Given the description of an element on the screen output the (x, y) to click on. 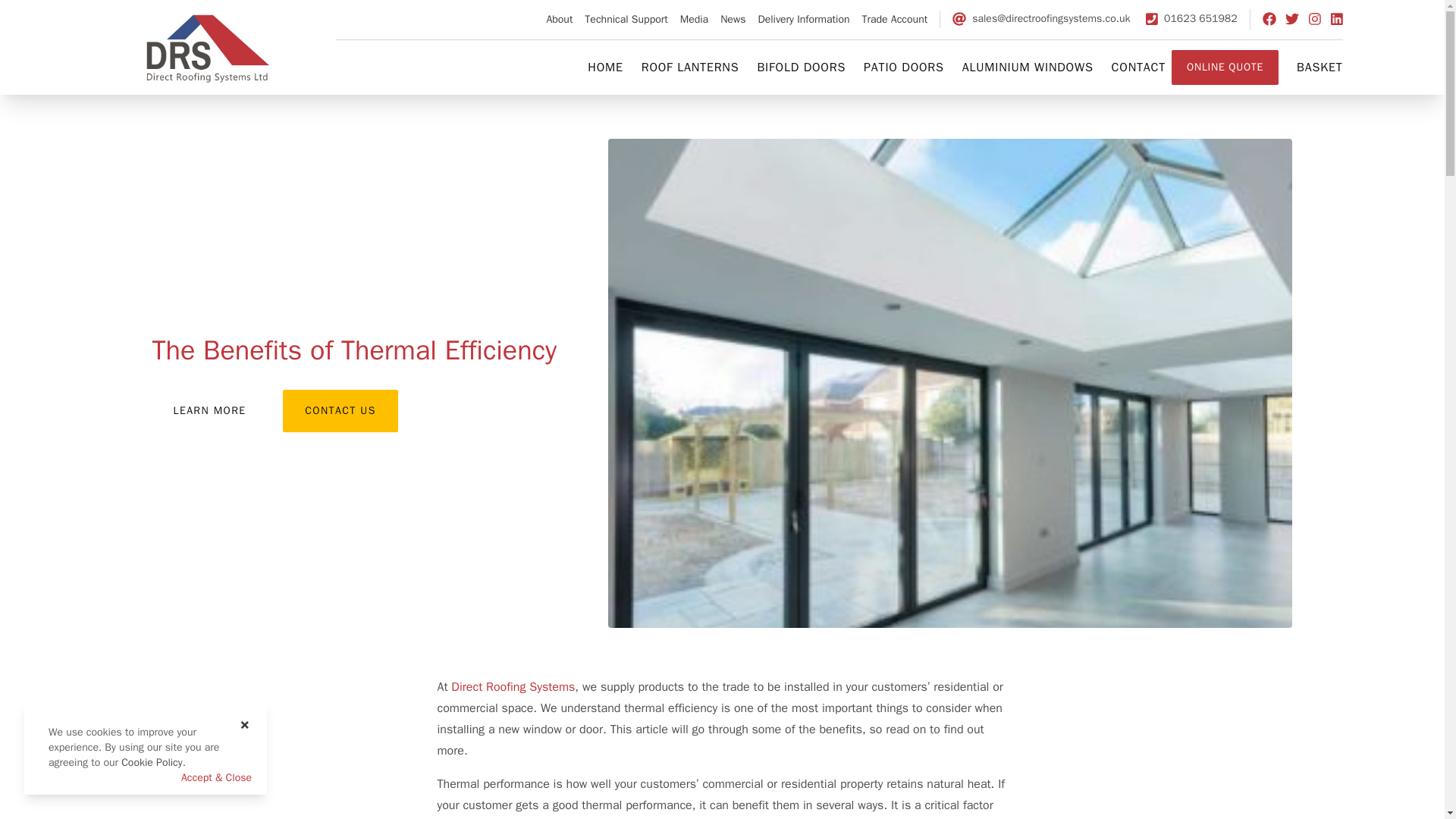
ALUMINIUM WINDOWS (1027, 67)
LEARN MORE (208, 411)
Trade Account (894, 19)
BIFOLD DOORS (801, 67)
LEARN MORE (208, 411)
01623 651982 (1190, 18)
PATIO DOORS (903, 67)
Delivery Information (802, 19)
Cookie Policy (151, 762)
